Given the description of an element on the screen output the (x, y) to click on. 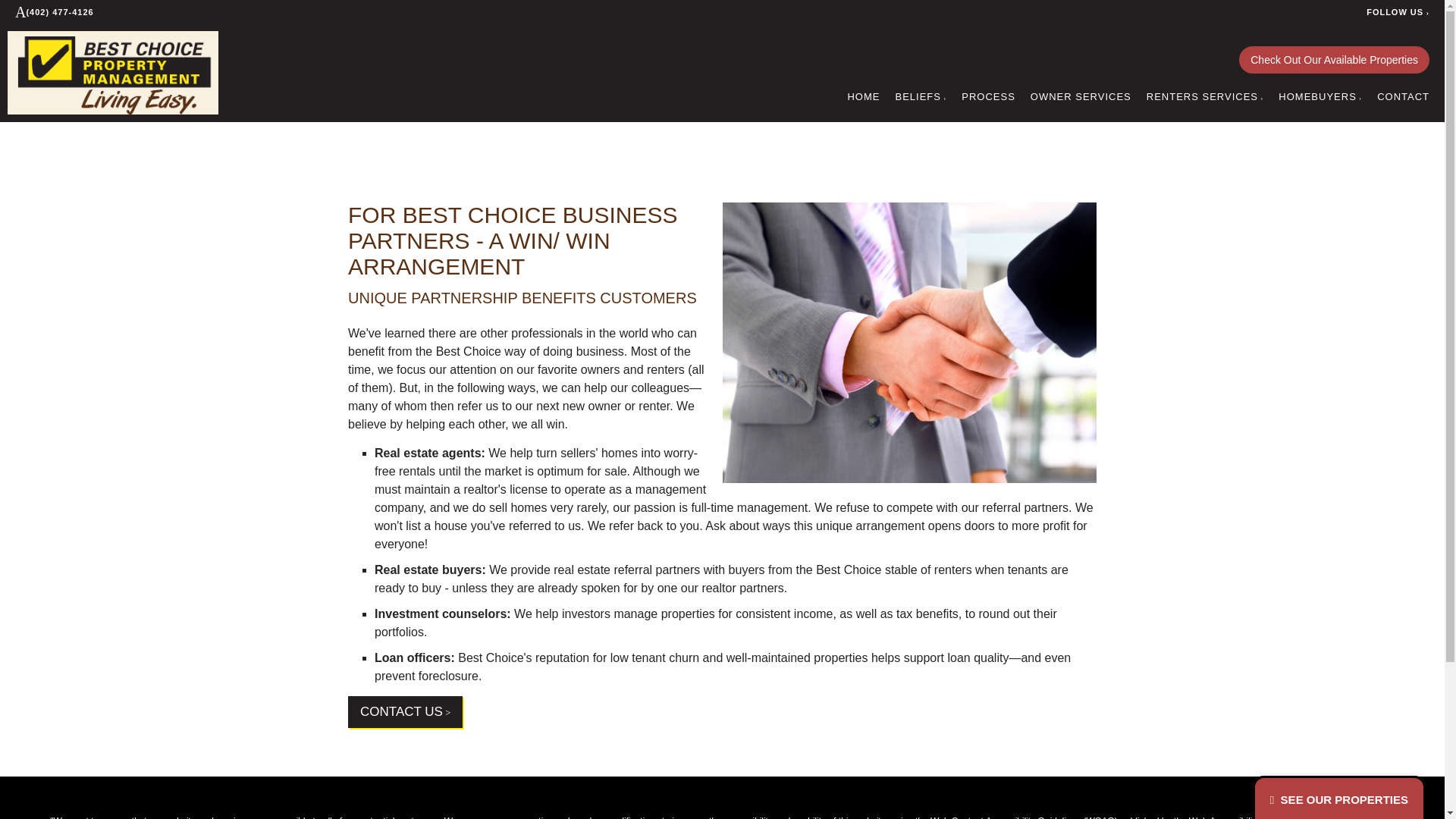
CONTACT (1403, 96)
Check Out Our Available Properties (1334, 59)
CONTACT US (405, 712)
  SEE OUR PROPERTIES (1339, 800)
PROCESS (987, 96)
HOME (863, 96)
OWNER SERVICES (1080, 96)
